Given the description of an element on the screen output the (x, y) to click on. 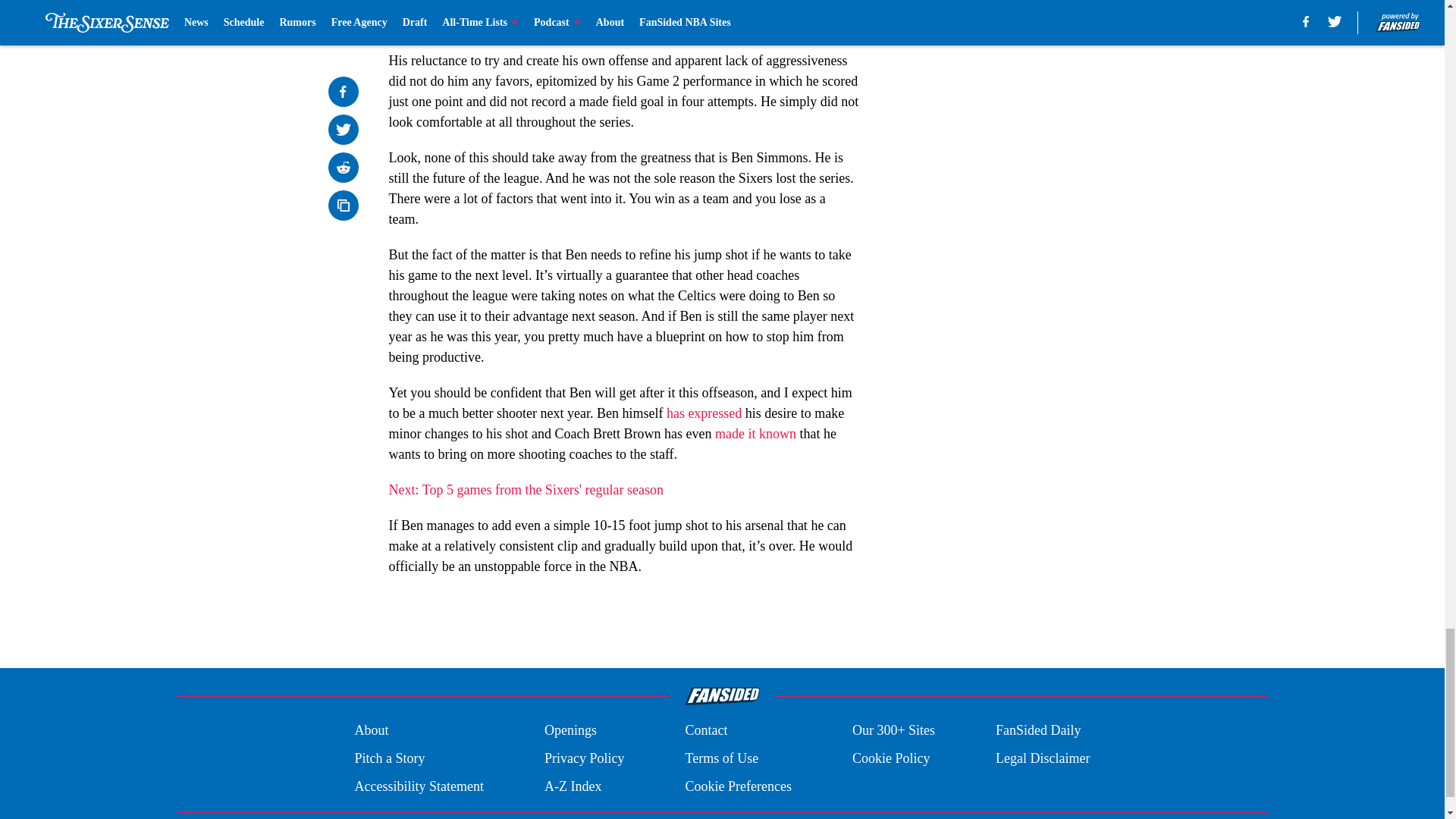
made it known (755, 433)
About (370, 730)
Openings (570, 730)
Next: Top 5 games from the Sixers' regular season (525, 489)
has expressed (703, 412)
